Given the description of an element on the screen output the (x, y) to click on. 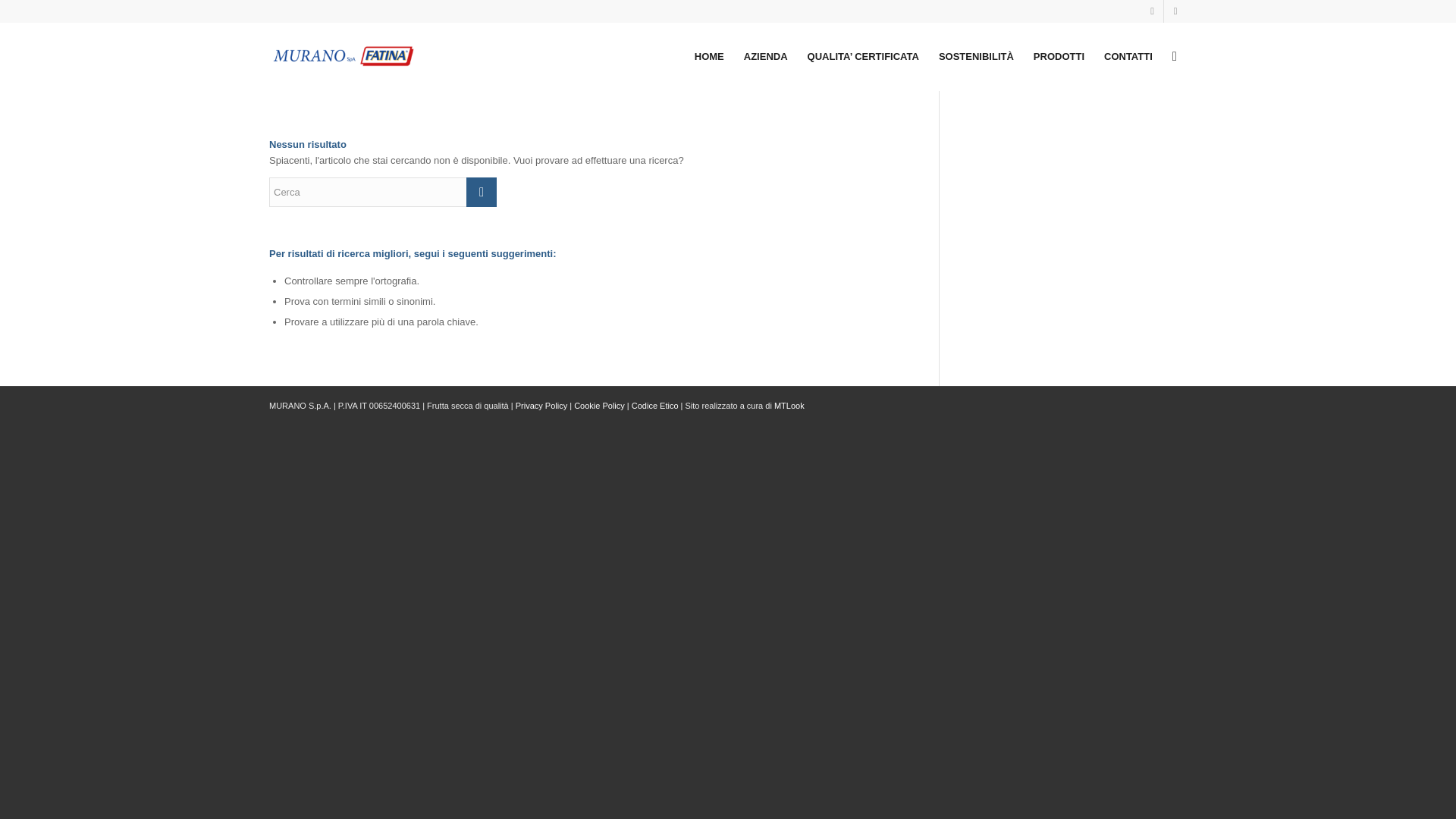
Privacy Policy (541, 405)
Codice Etico (654, 405)
PRODOTTI (1058, 56)
Cookie Policy (598, 405)
AZIENDA (765, 56)
Instagram (1152, 11)
Facebook (1174, 11)
MTLook (789, 405)
CONTATTI (1127, 56)
